Given the description of an element on the screen output the (x, y) to click on. 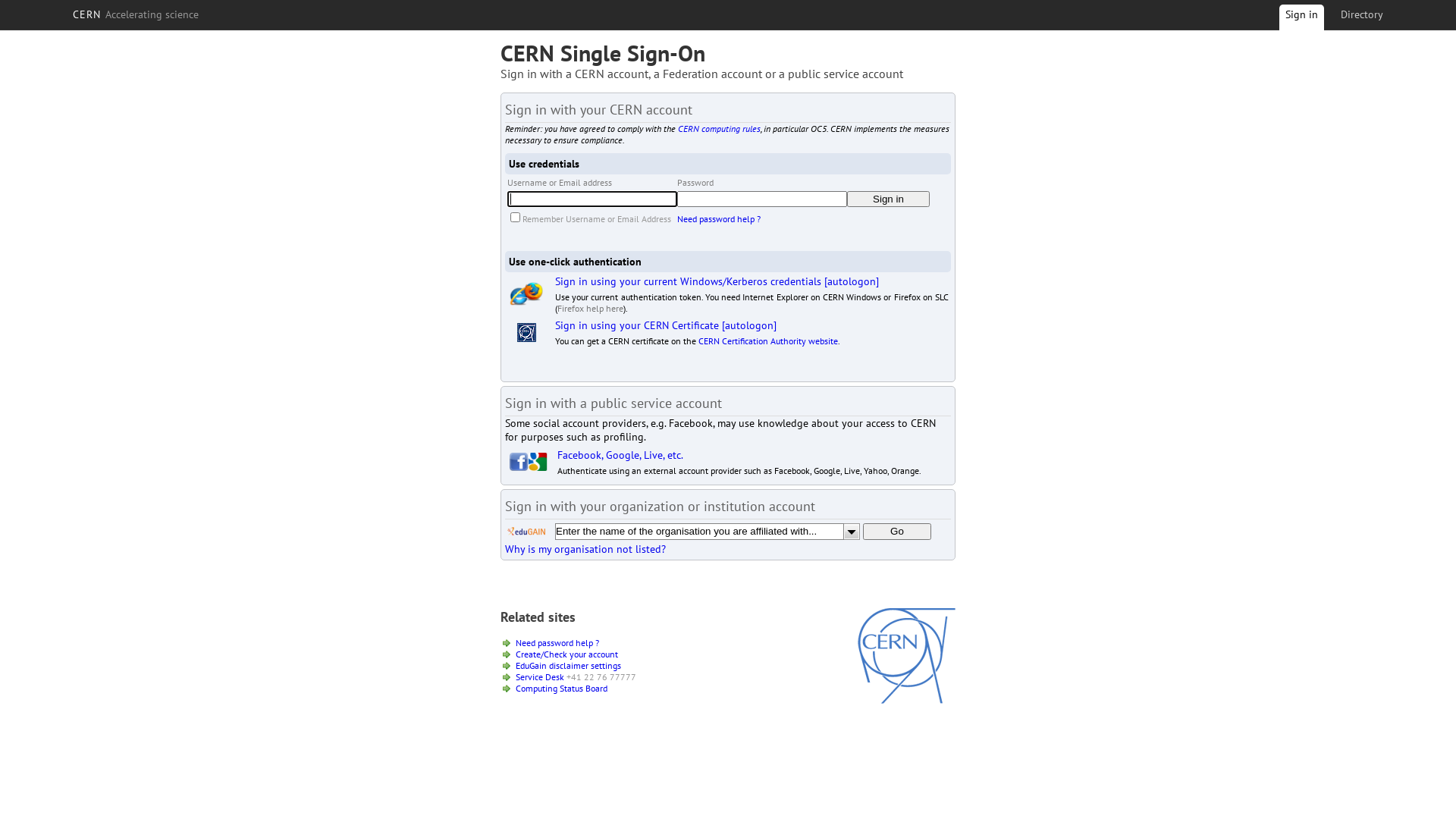
CERN Certification Authority website Element type: text (767, 340)
CERN Element type: hover (906, 699)
Create/Check your account Element type: text (566, 653)
Computing Status Board Element type: text (561, 687)
Sign in using your CERN Certificate Element type: text (636, 325)
[autologon] Element type: text (748, 325)
Why is my organisation not listed? Element type: text (585, 548)
Enter your Username or Email Address Element type: hover (592, 199)
Facebook, Google, Live, etc. Element type: text (620, 454)
Firefox help here Element type: text (590, 307)
Need password help ? Element type: text (718, 218)
Go Element type: text (896, 531)
[autologon] Element type: text (851, 281)
CERN Single Sign-On Element type: text (602, 52)
Sign in Element type: text (888, 199)
Directory Element type: text (1361, 14)
Need password help ? Element type: text (557, 642)
Service Desk Element type: text (539, 676)
Sign in Element type: text (1301, 19)
EduGain disclaimer settings Element type: text (568, 665)
CERN Accelerating science Element type: text (135, 14)
CERN computing rules Element type: text (718, 128)
Sign in using your current Windows/Kerberos credentials Element type: text (688, 281)
[show debug information] Element type: text (549, 565)
